Given the description of an element on the screen output the (x, y) to click on. 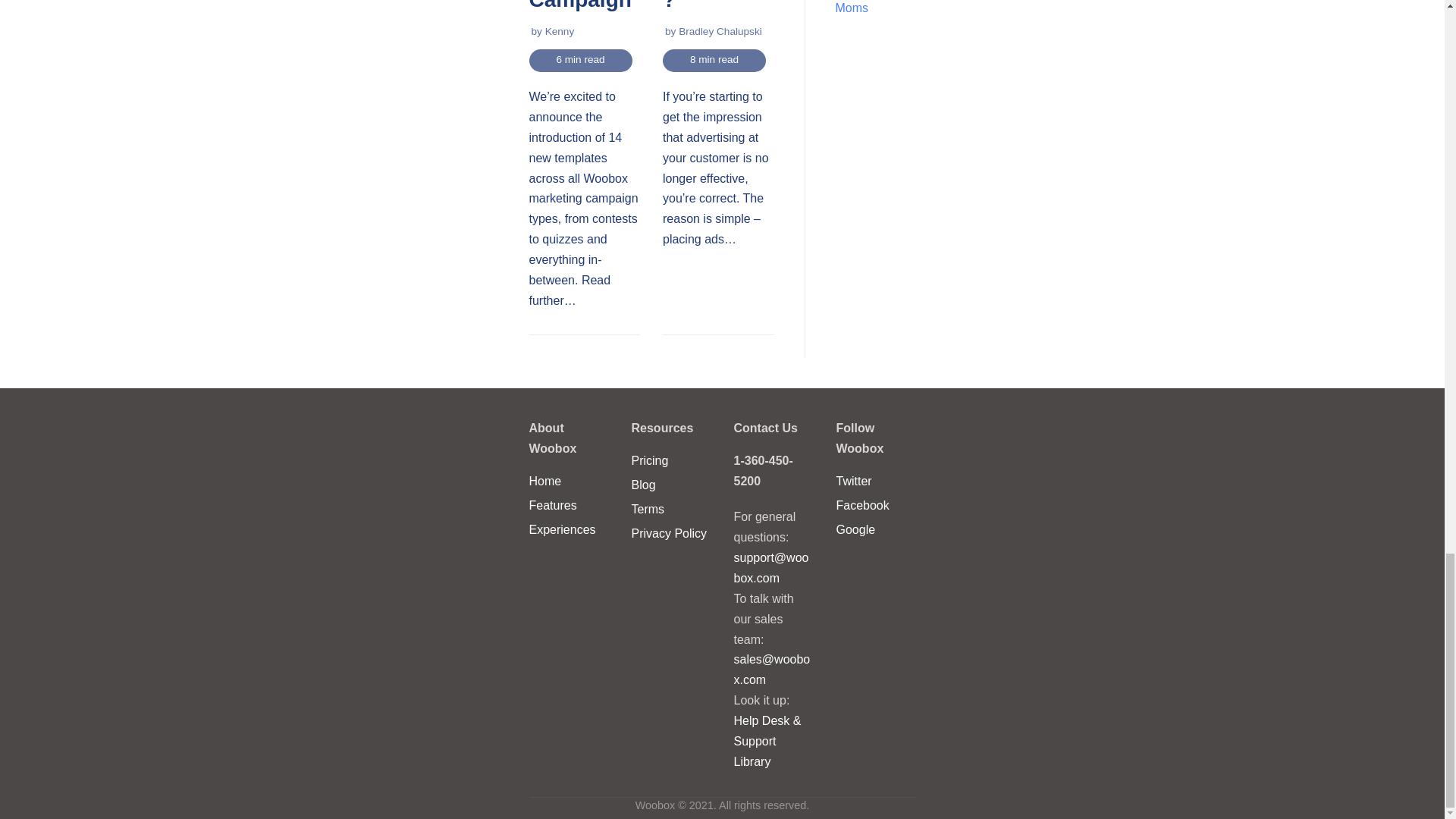
Posts by Kenny (559, 30)
What Are The Current Trends In Interactive Marketing? (715, 5)
Bradley Chalupski (719, 30)
Kenny (559, 30)
14 New Woobox Templates for Your Next Marketing Campaign (580, 5)
Posts by Bradley Chalupski (719, 30)
